Given the description of an element on the screen output the (x, y) to click on. 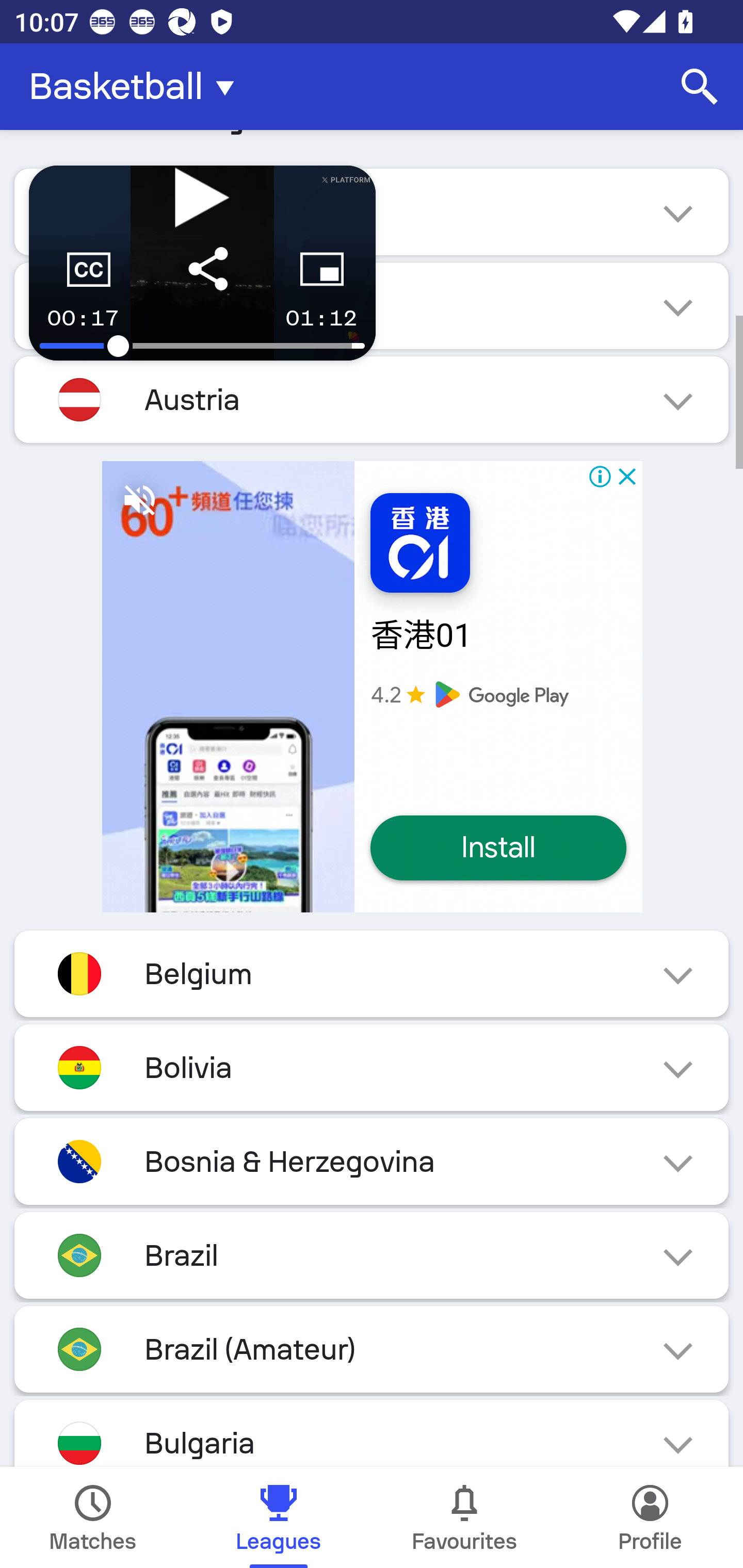
Basketball (137, 86)
Search (699, 86)
Austria (371, 399)
香港01 4.2 Install Install (371, 686)
Install (498, 848)
Belgium (371, 973)
Bolivia (371, 1067)
Bosnia & Herzegovina (371, 1160)
Brazil (371, 1255)
Brazil (Amateur) (371, 1349)
Bulgaria (371, 1433)
Matches (92, 1517)
Favourites (464, 1517)
Profile (650, 1517)
